Given the description of an element on the screen output the (x, y) to click on. 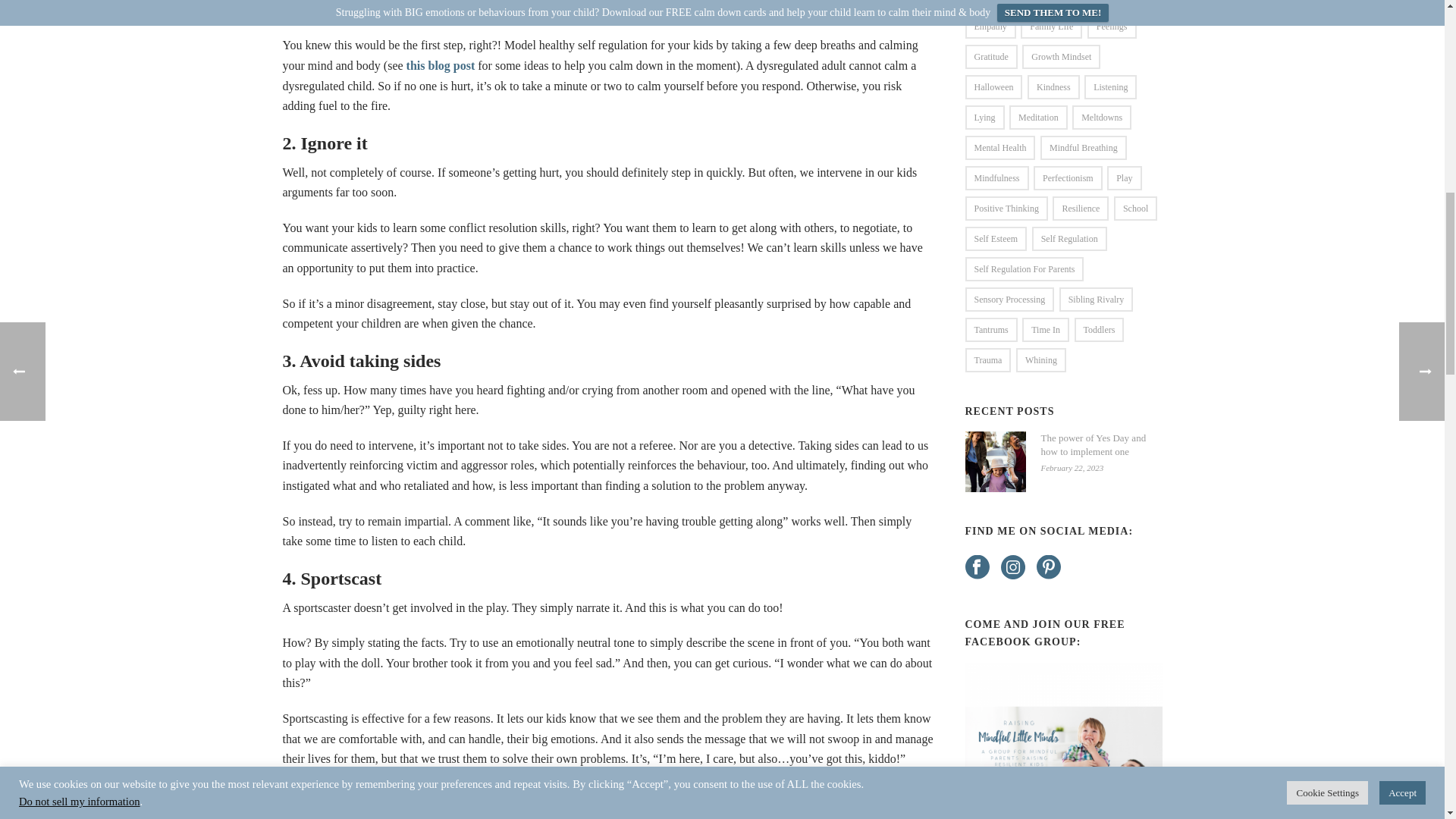
Follow Us on pinterest (1047, 568)
The power of Yes Day and how to implement one (994, 461)
Follow Us on instagram (1013, 568)
Follow Us on facebook (975, 568)
